Given the description of an element on the screen output the (x, y) to click on. 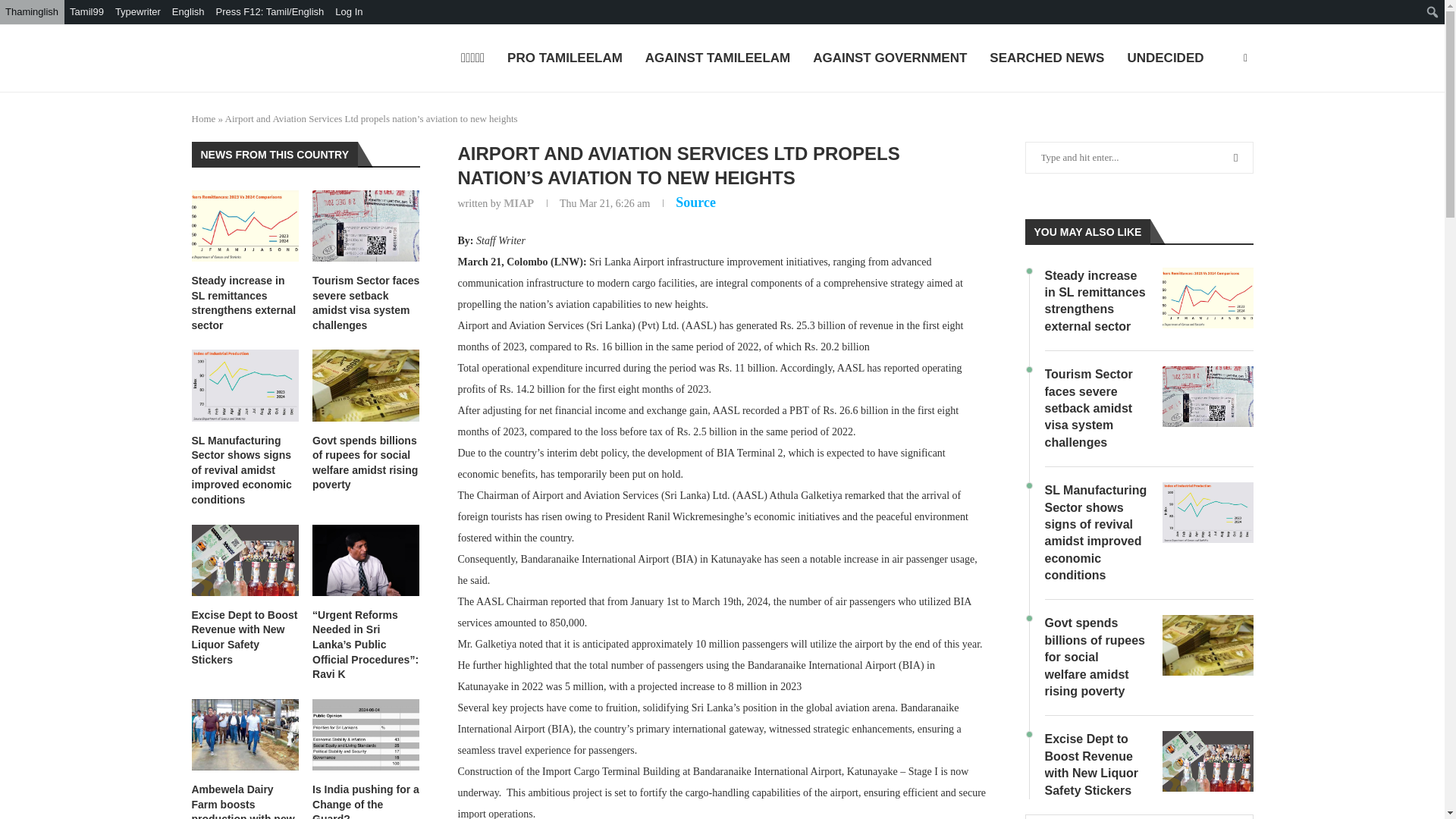
Click to select English keyboard (189, 12)
AGAINST GOVERNMENT (889, 58)
UNDECIDED (1165, 58)
Log In (349, 12)
SEARCHED NEWS (1046, 58)
Read original story (695, 201)
Tamil99 (87, 12)
Click to select Tamil99 keyboard (87, 12)
